Given the description of an element on the screen output the (x, y) to click on. 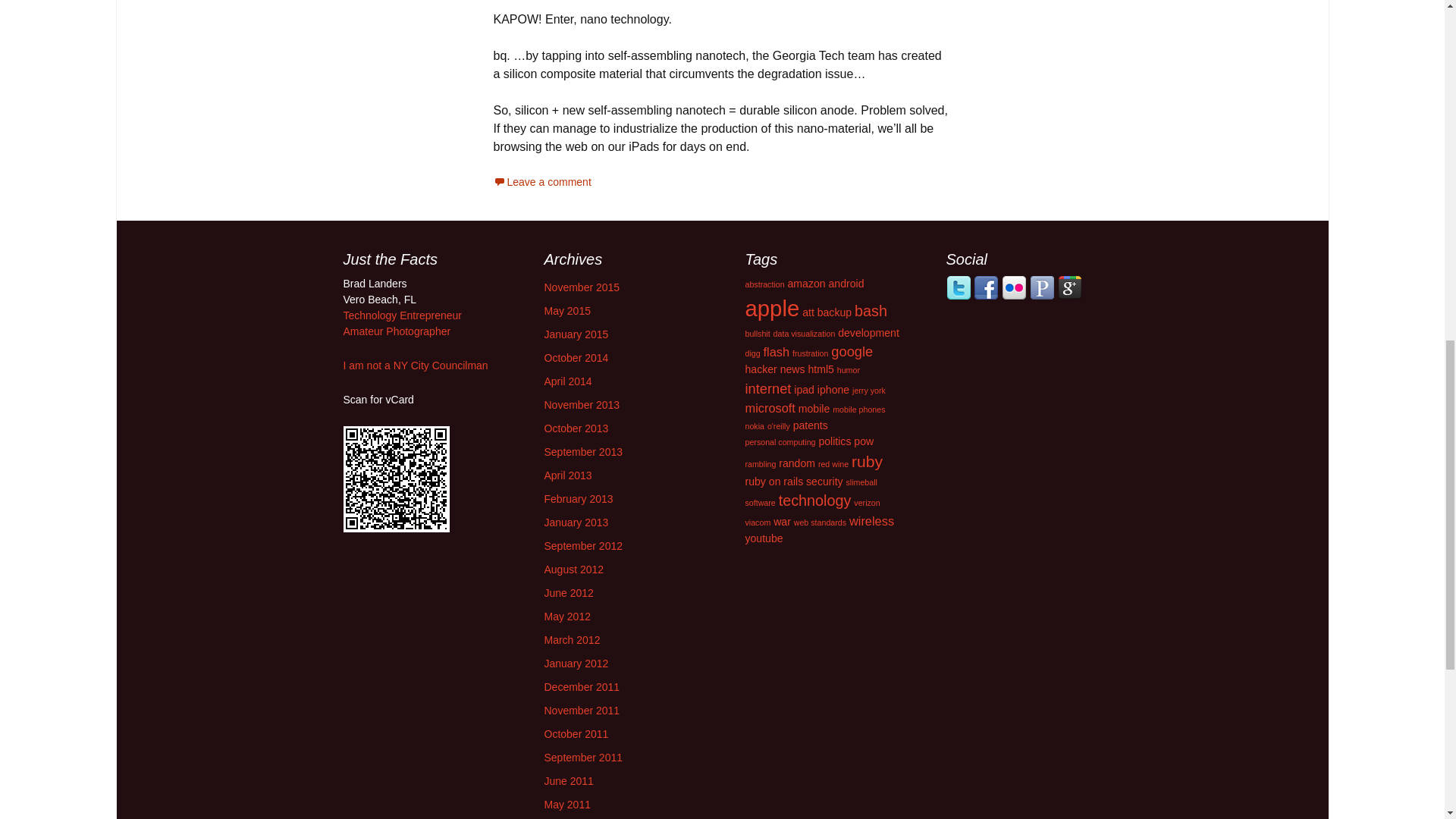
Flickr: bradleyland's Photostream (395, 331)
Amateur Photographer (395, 331)
January 2013 (576, 522)
Technology Entrepreneur (401, 315)
May 2011 (567, 804)
January 2015 (576, 334)
Leave a comment (542, 182)
January 2012 (576, 663)
October 2014 (576, 357)
November 2011 (582, 710)
September 2013 (583, 451)
May 2015 (567, 310)
December 2011 (582, 686)
March 2012 (571, 639)
I am not a NY City Councilman (414, 365)
